Given the description of an element on the screen output the (x, y) to click on. 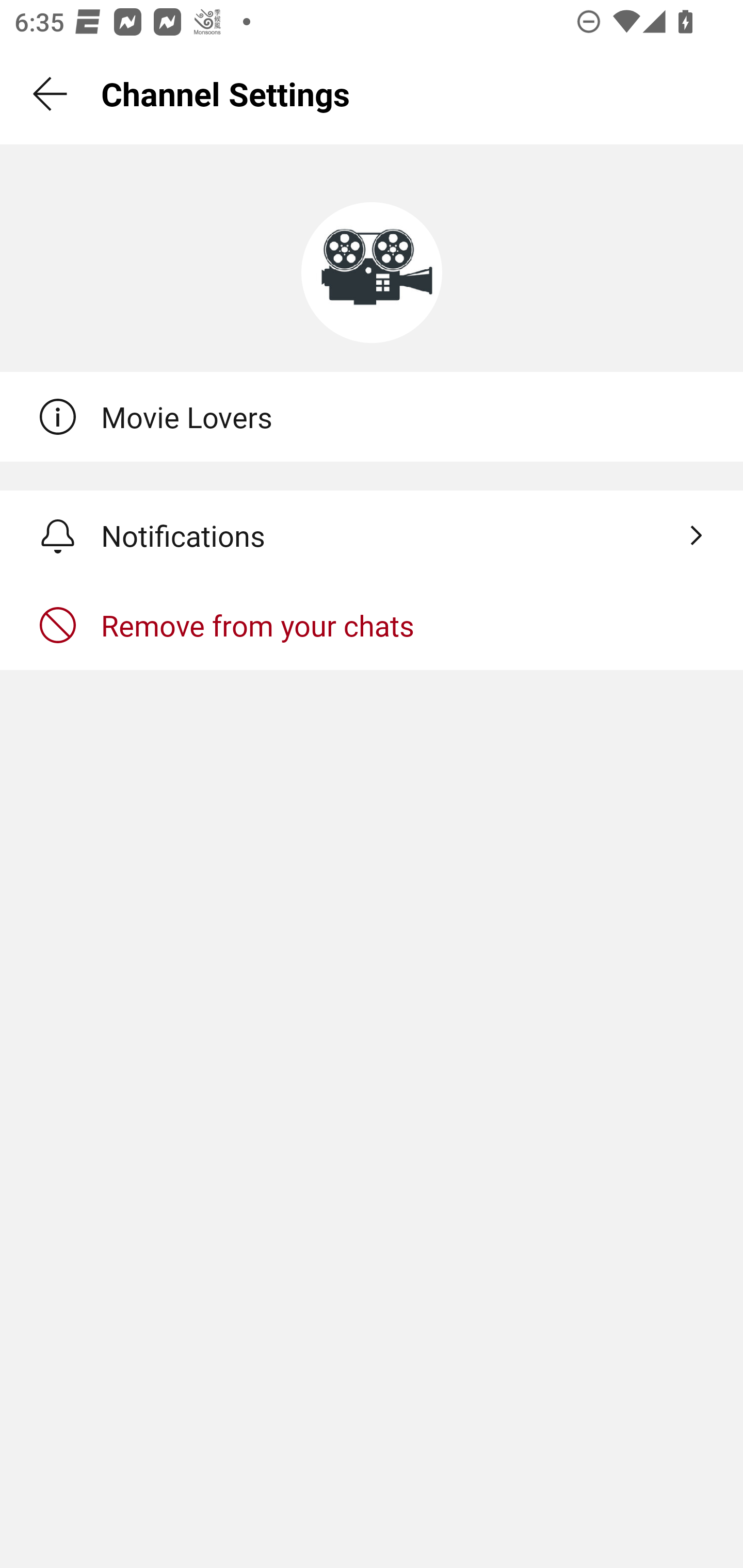
Back (50, 93)
Notifications (371, 535)
Remove from your chats (371, 624)
